Given the description of an element on the screen output the (x, y) to click on. 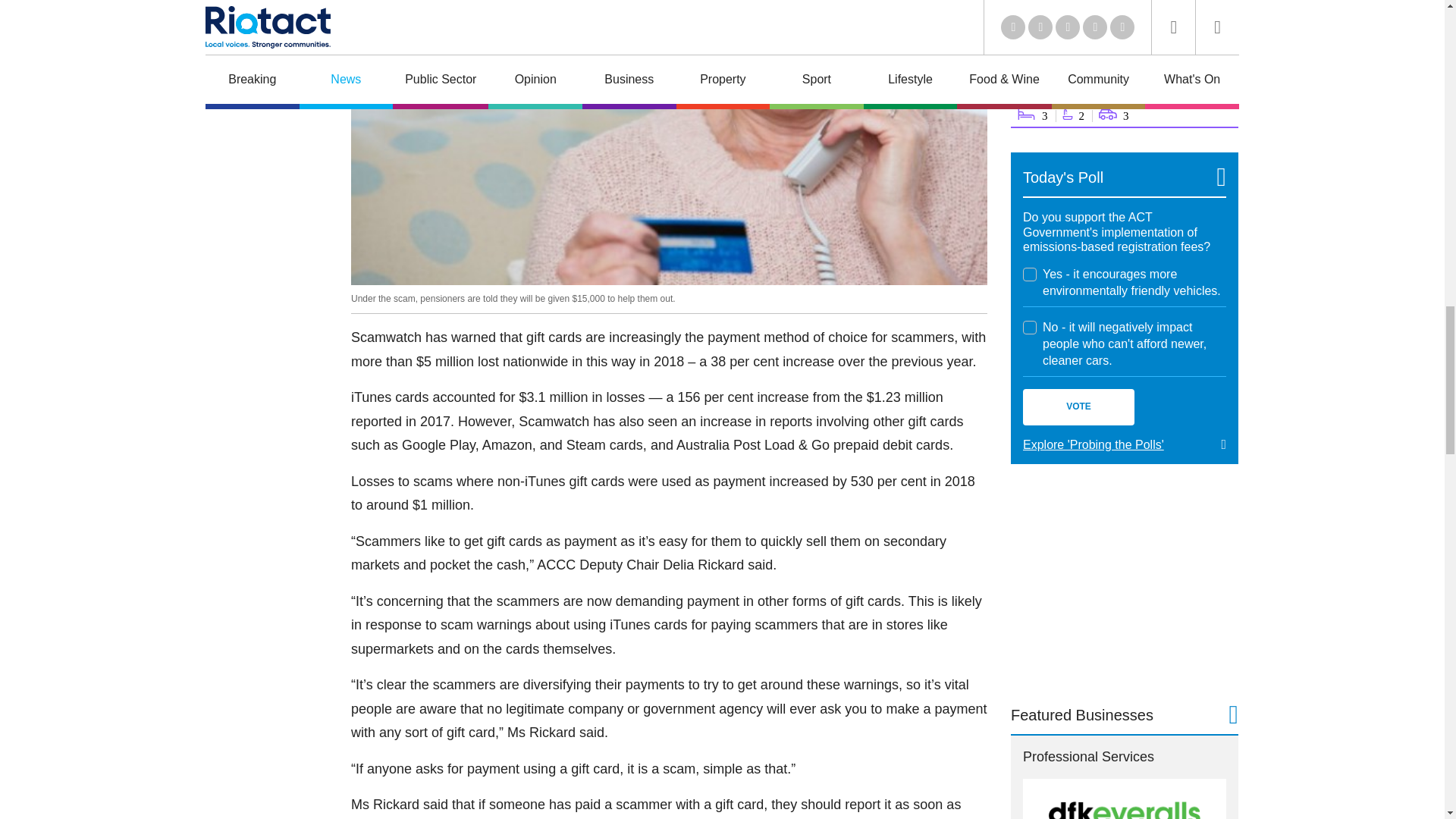
2041 (1029, 274)
   Vote    (1078, 407)
2042 (1029, 327)
3rd party ad content (1124, 583)
Zango Sales (1124, 63)
